Given the description of an element on the screen output the (x, y) to click on. 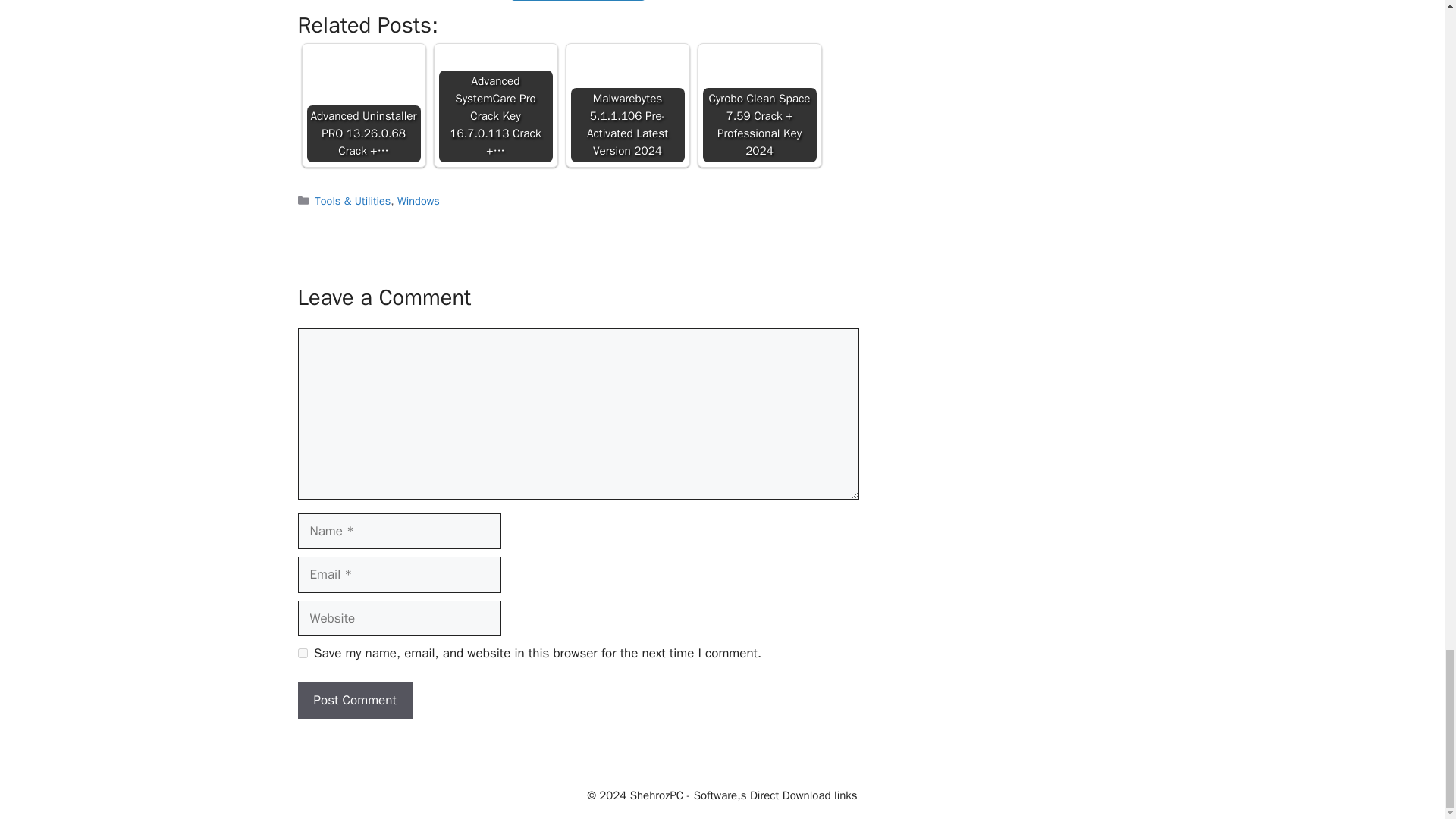
Post Comment (354, 700)
yes (302, 653)
